Given the description of an element on the screen output the (x, y) to click on. 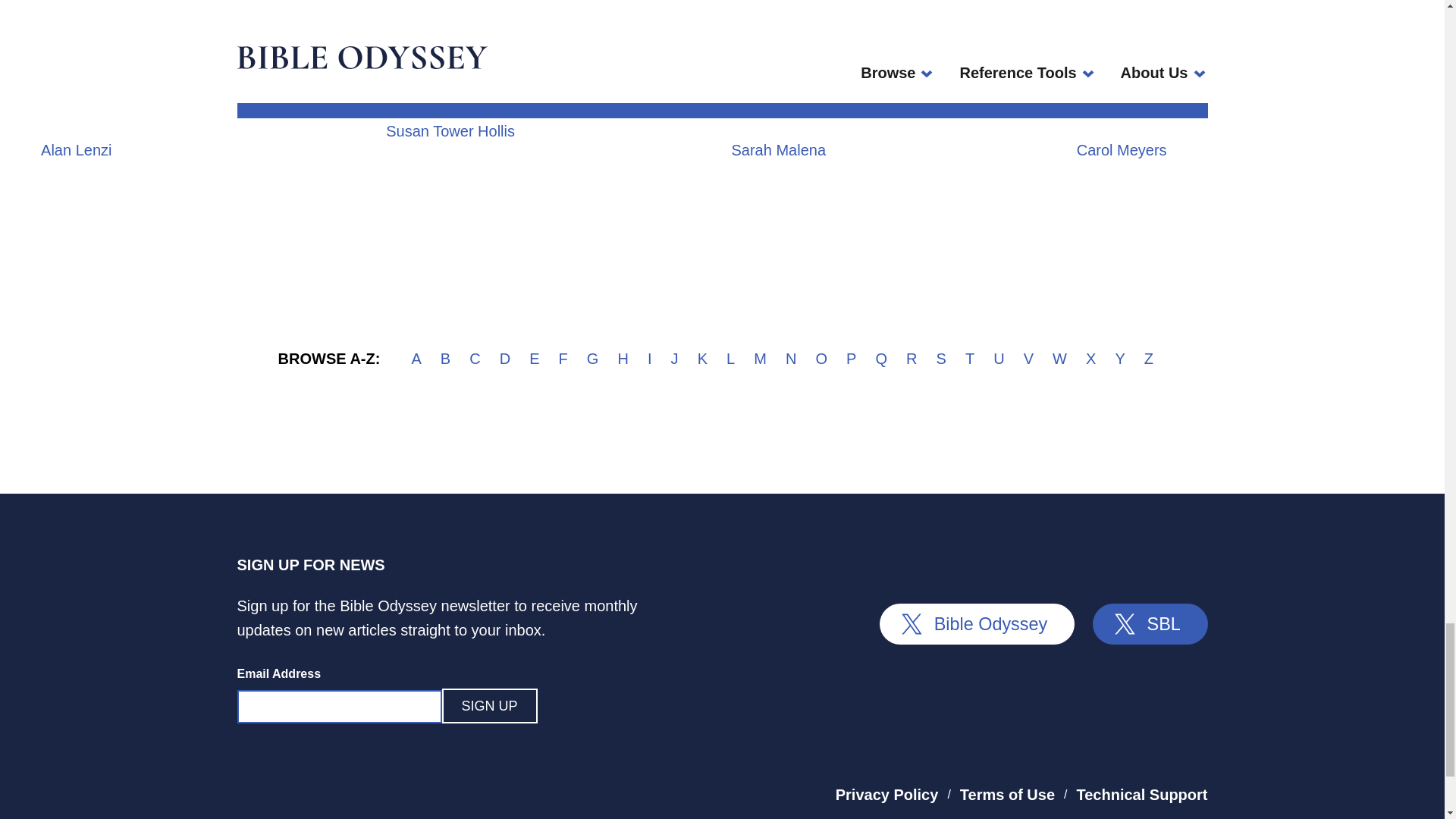
Sign Up (489, 705)
